Given the description of an element on the screen output the (x, y) to click on. 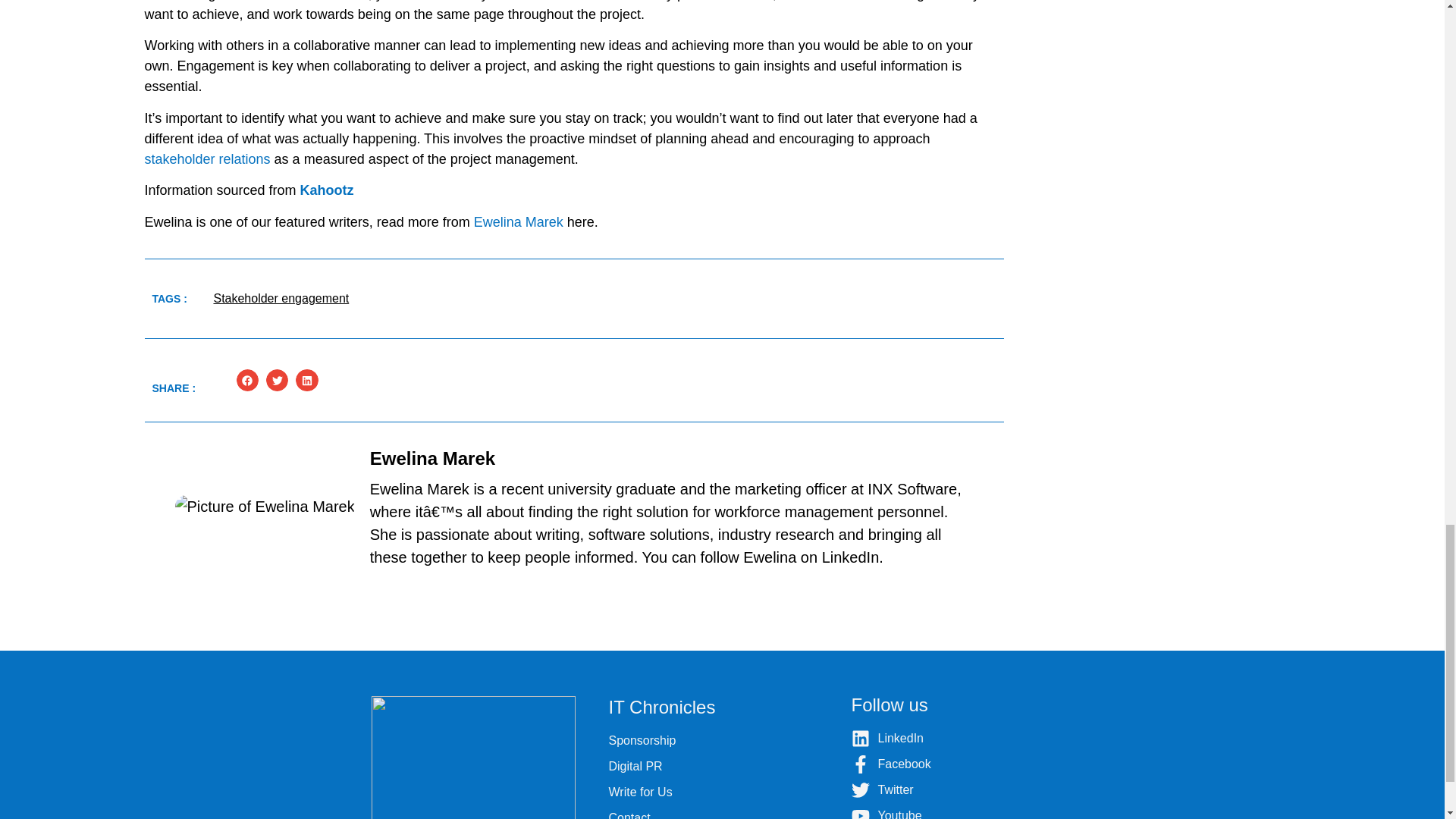
Write for Us (721, 791)
Sponsorship (721, 741)
Digital PR (721, 766)
Kahootz (326, 190)
Stakeholder engagement (280, 297)
Ewelina Marek (518, 222)
stakeholder relations (206, 159)
